Given the description of an element on the screen output the (x, y) to click on. 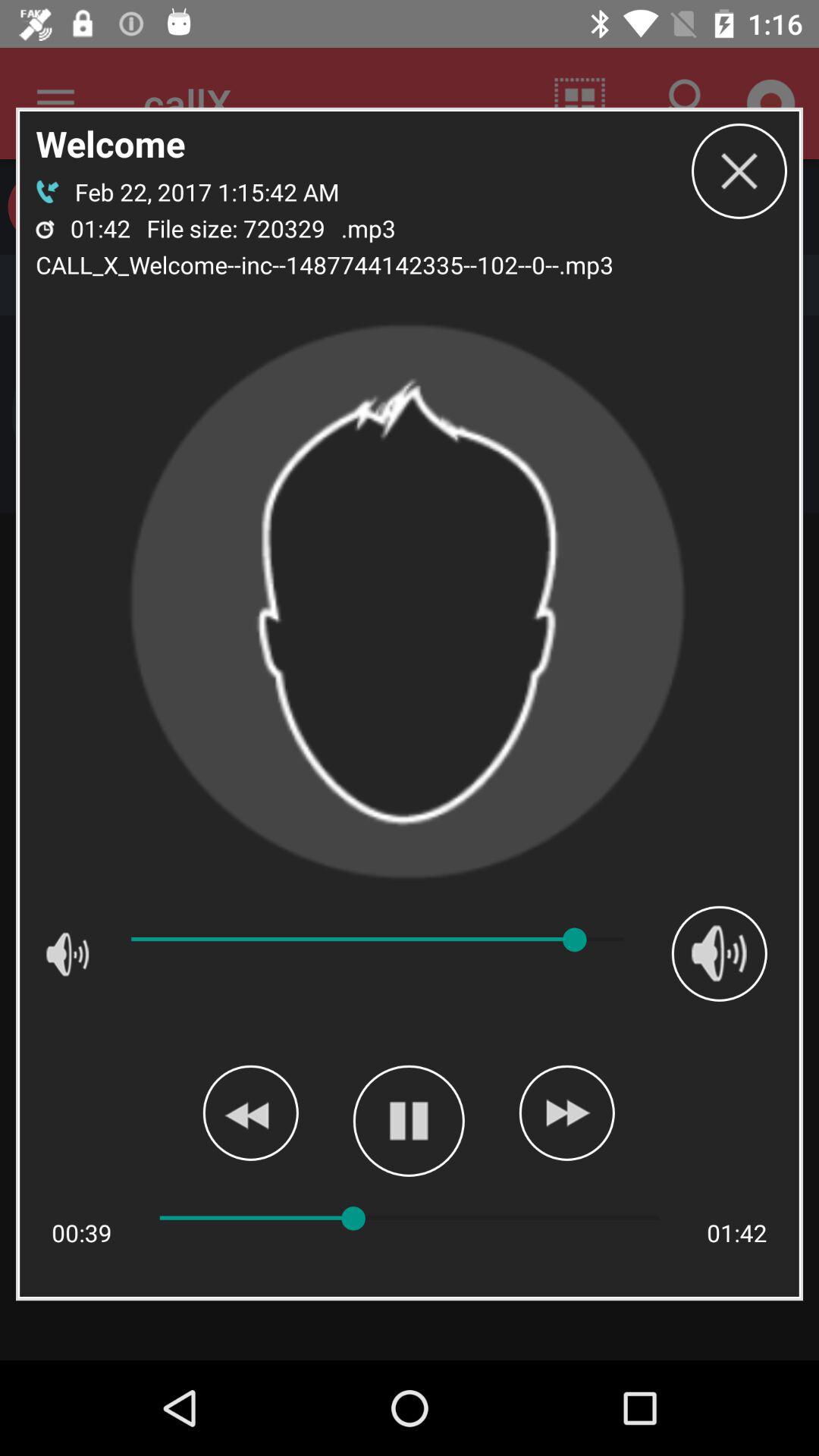
pause pronunciation (408, 1120)
